Given the description of an element on the screen output the (x, y) to click on. 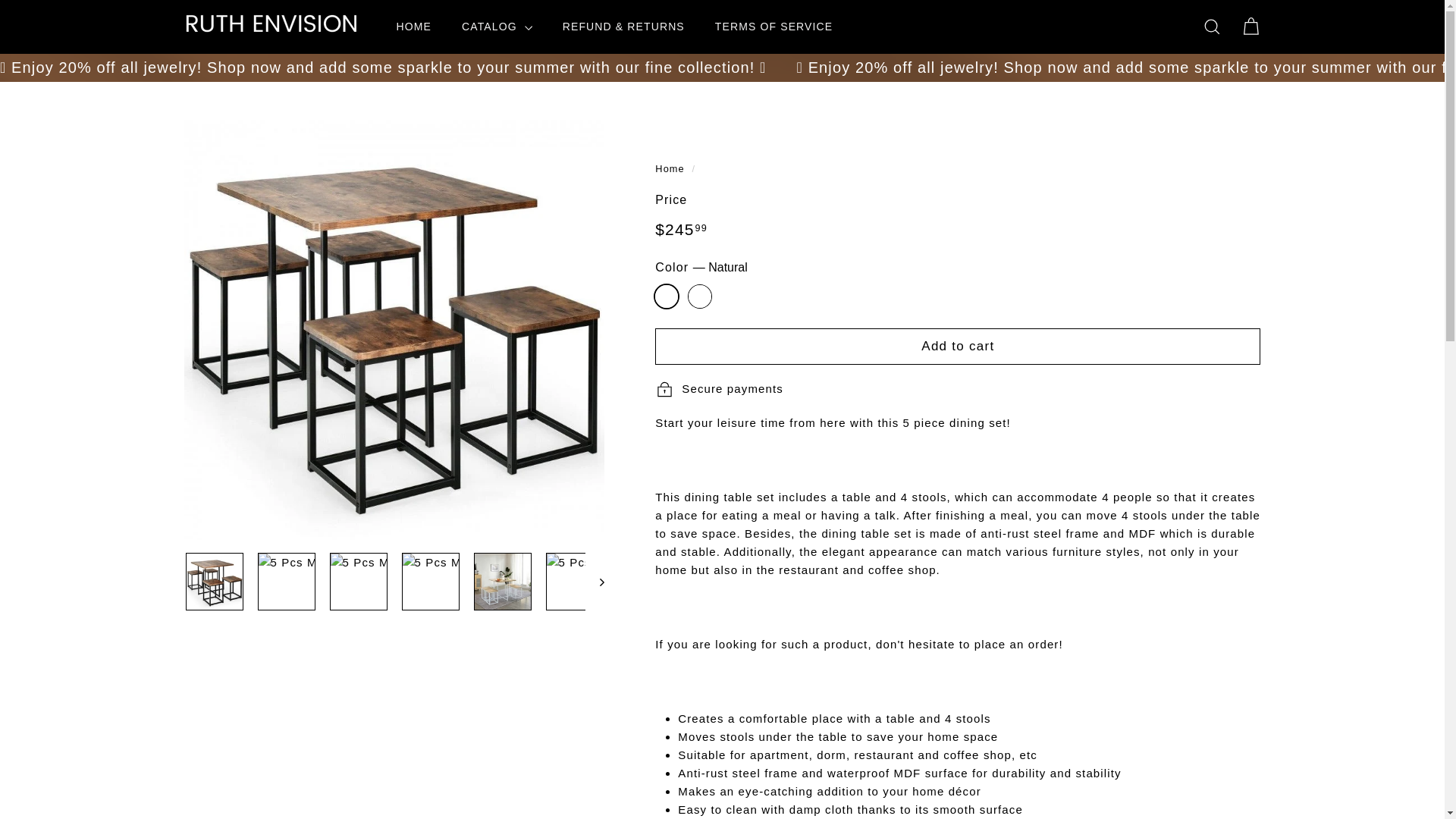
HOME (413, 25)
TERMS OF SERVICE (773, 25)
Back to the frontpage (669, 167)
